Given the description of an element on the screen output the (x, y) to click on. 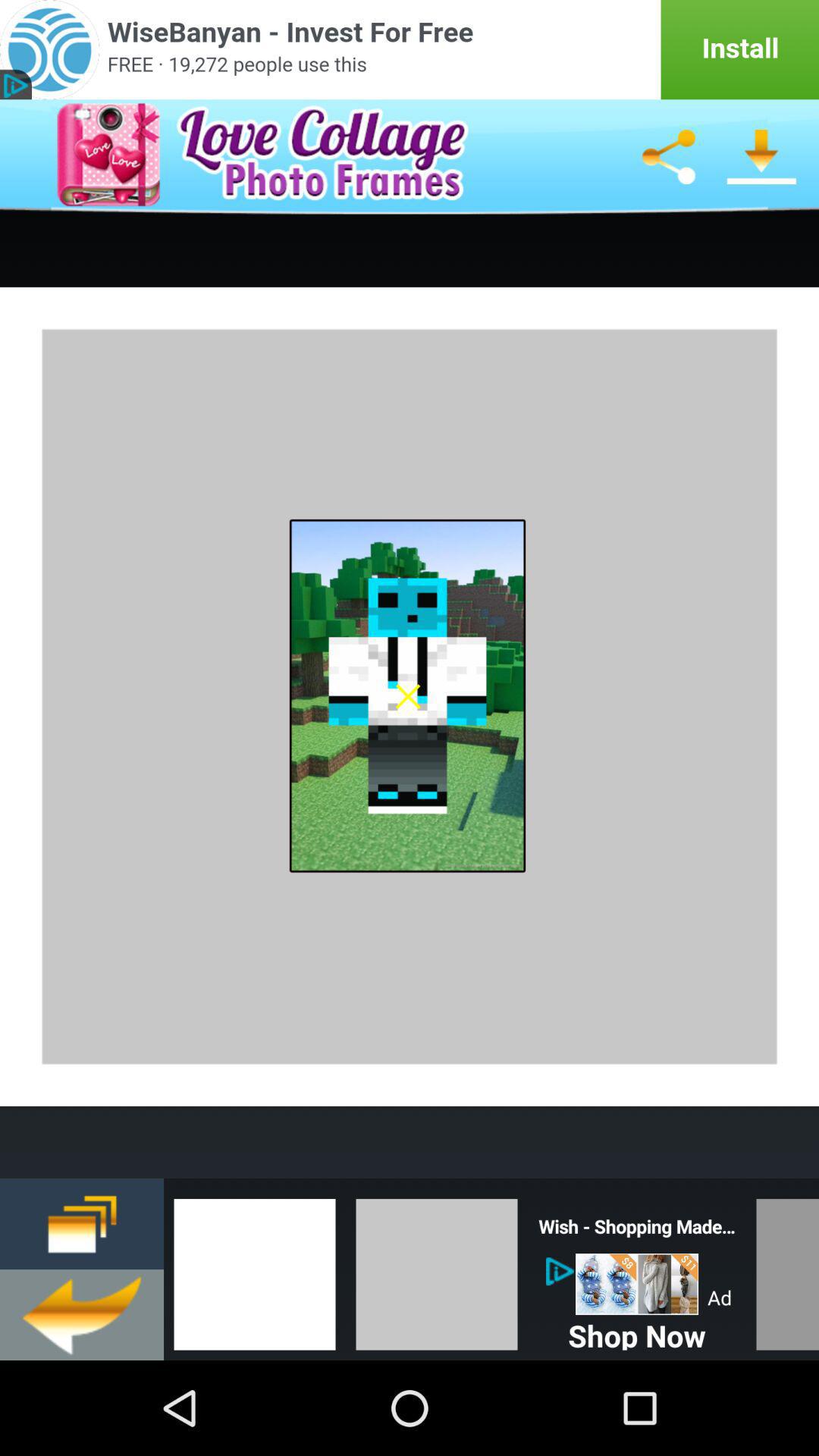
press the advert (636, 1283)
